Given the description of an element on the screen output the (x, y) to click on. 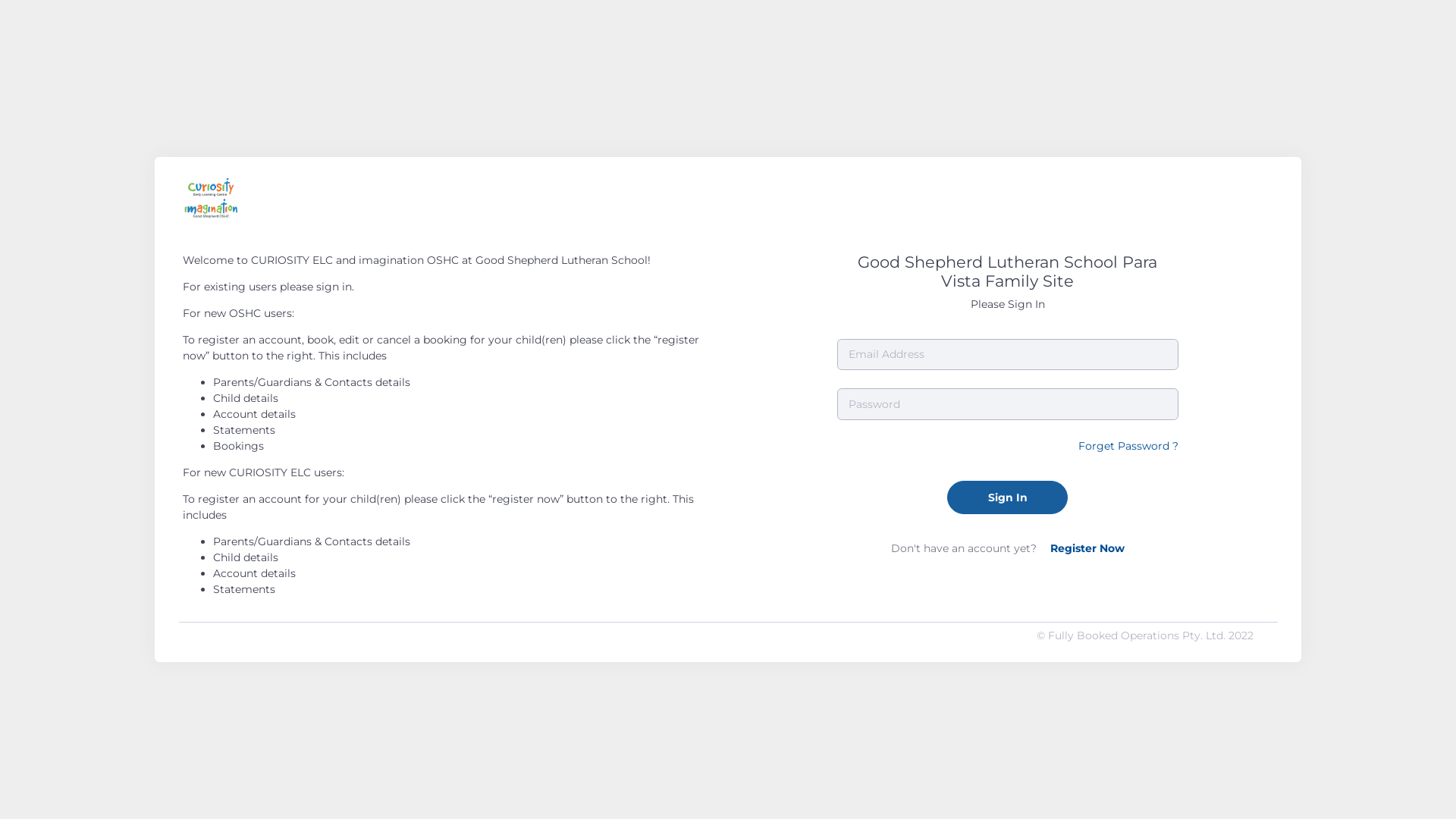
Sign In Element type: text (1007, 497)
Register Now Element type: text (1086, 548)
Forget Password ? Element type: text (1128, 445)
